Given the description of an element on the screen output the (x, y) to click on. 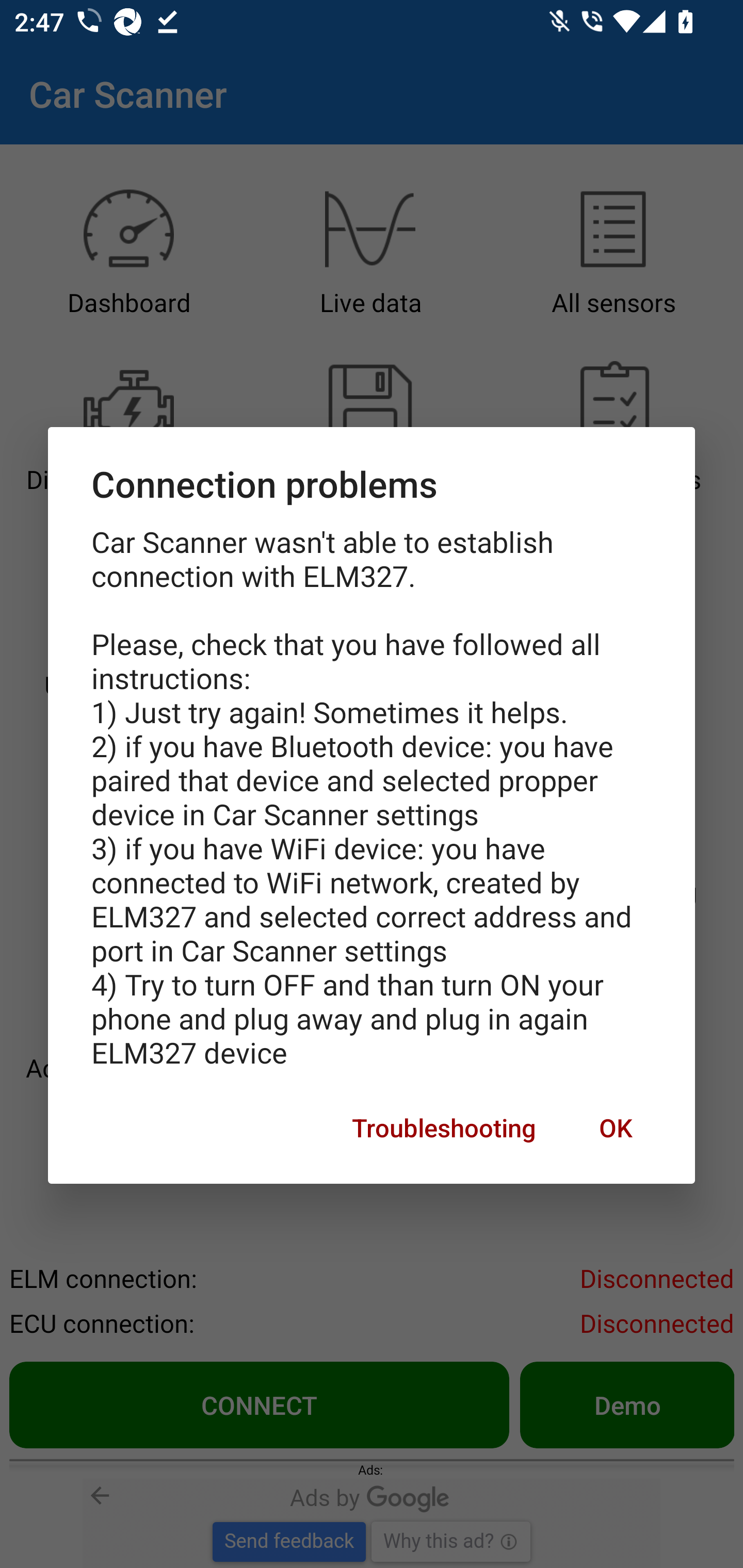
Troubleshooting (443, 1127)
OK (615, 1127)
